Given the description of an element on the screen output the (x, y) to click on. 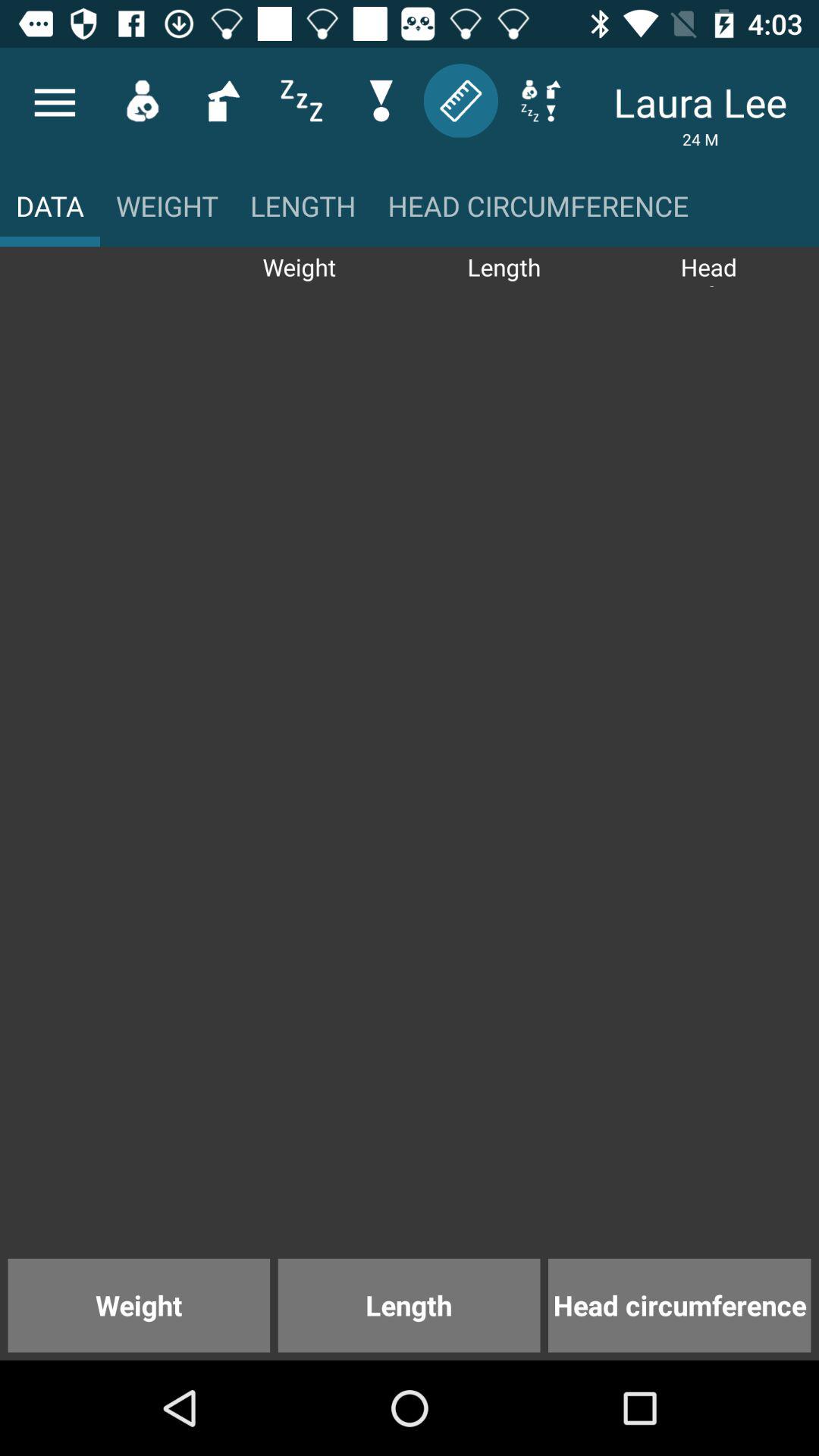
select the tab head circumfernce on the web page (538, 217)
